Given the description of an element on the screen output the (x, y) to click on. 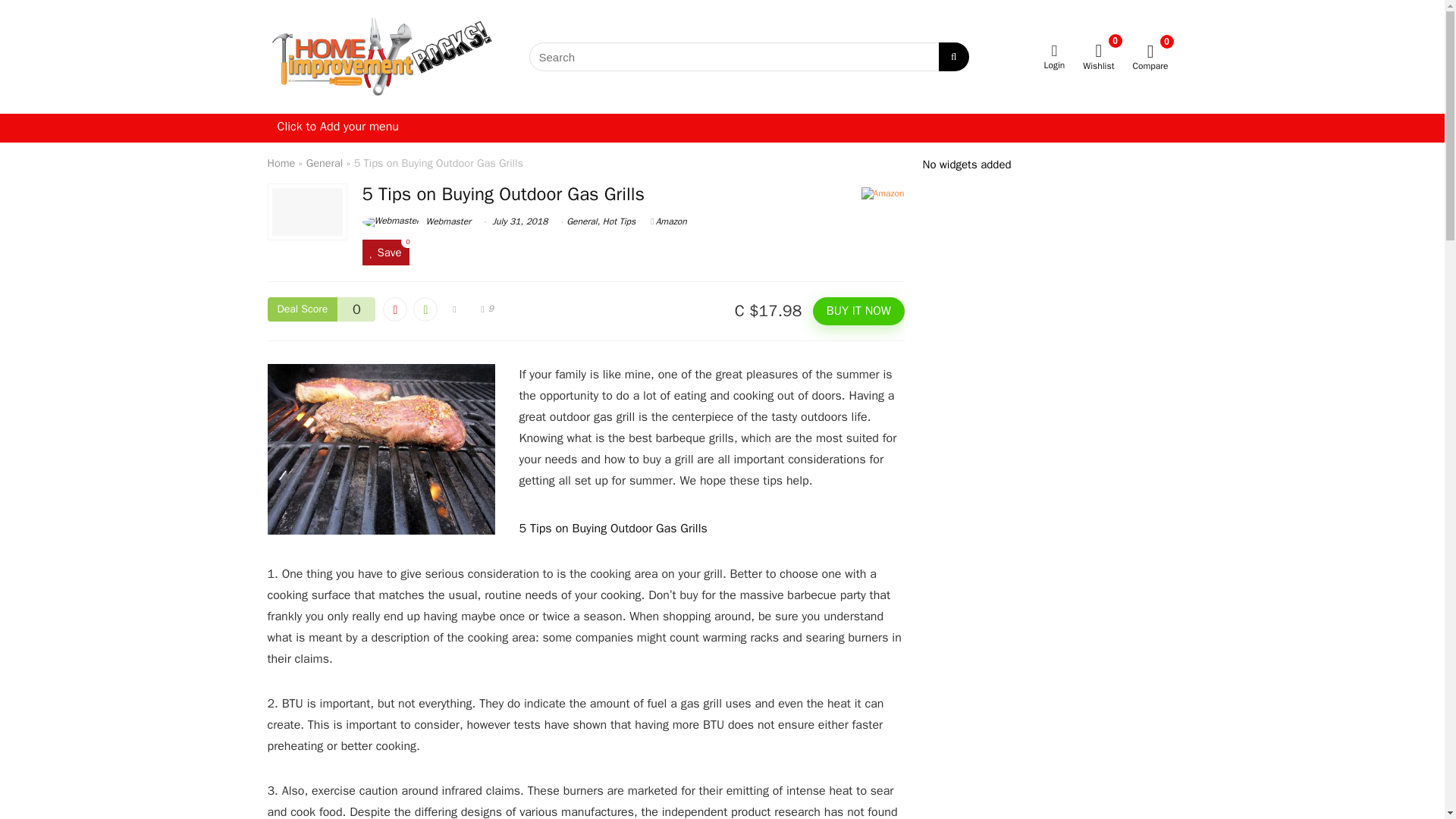
General (324, 162)
Webmaster (416, 221)
View all posts in General (581, 221)
View all posts in Hot Tips (618, 221)
Hot Tips (618, 221)
outdoor gas grills (380, 448)
Vote up (425, 309)
BUY IT NOW (858, 311)
Home (280, 162)
General (581, 221)
